Given the description of an element on the screen output the (x, y) to click on. 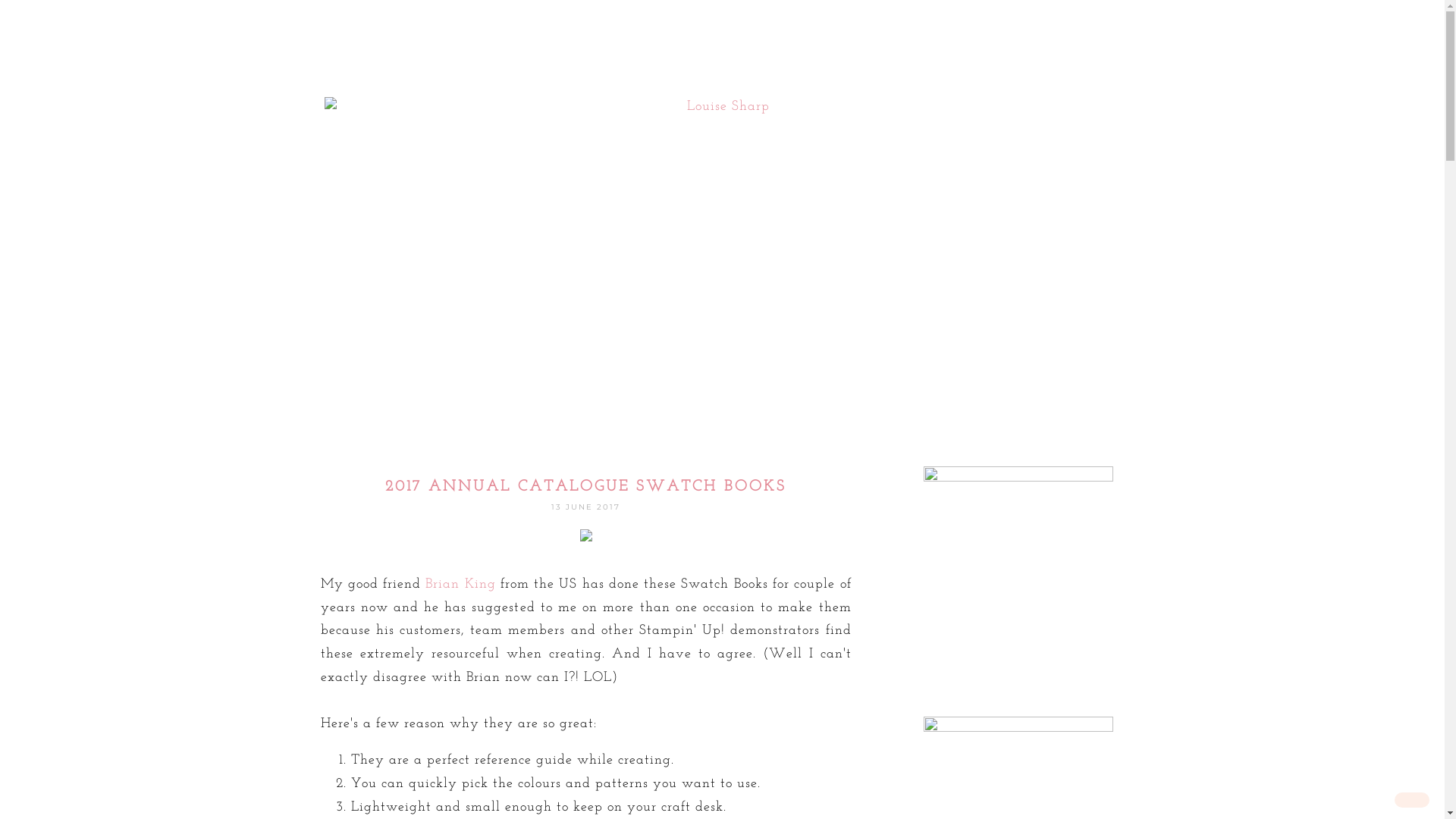
Brian King Element type: text (460, 584)
